Given the description of an element on the screen output the (x, y) to click on. 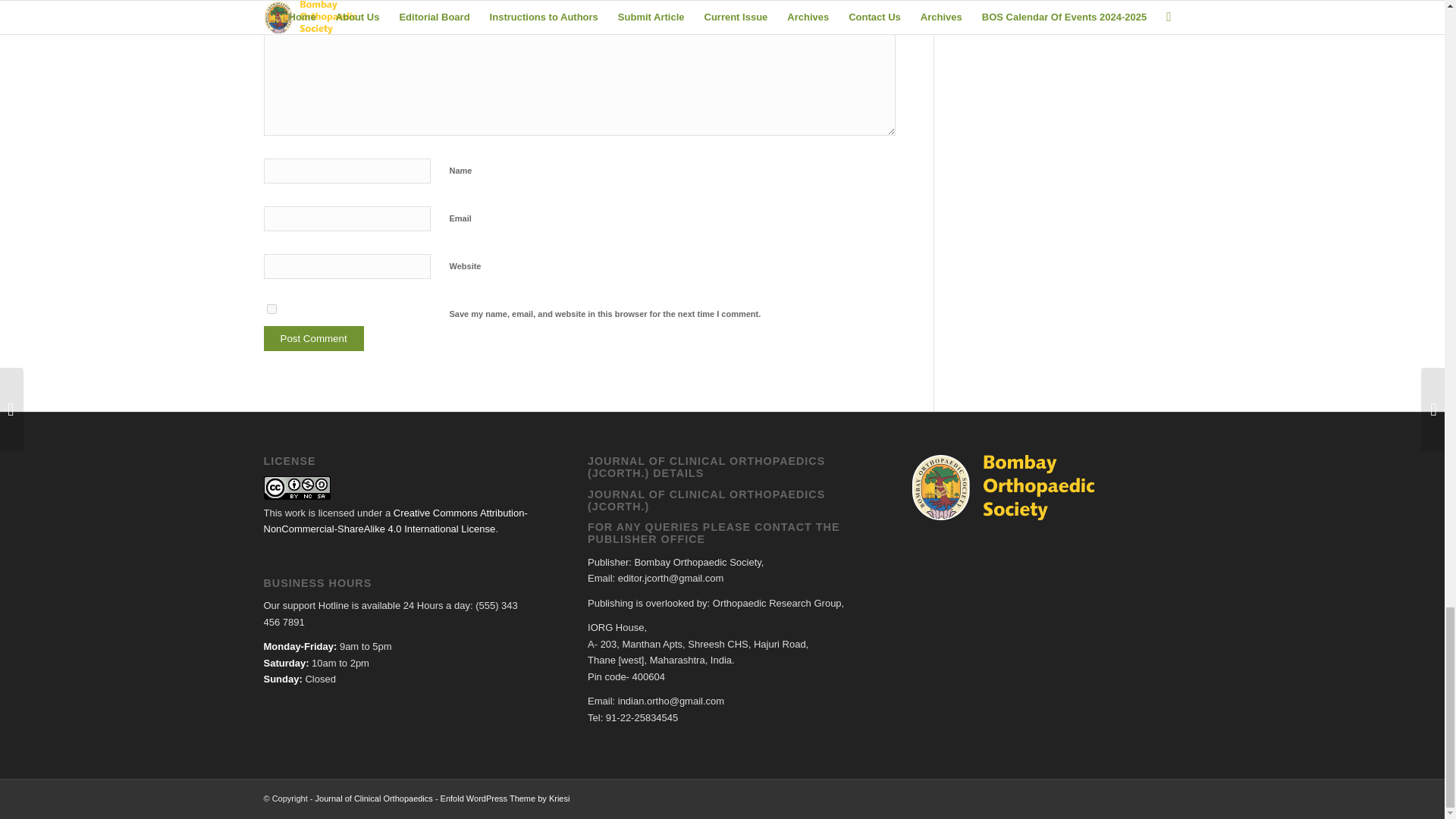
Post Comment (313, 338)
Post Comment (313, 338)
yes (271, 308)
